Given the description of an element on the screen output the (x, y) to click on. 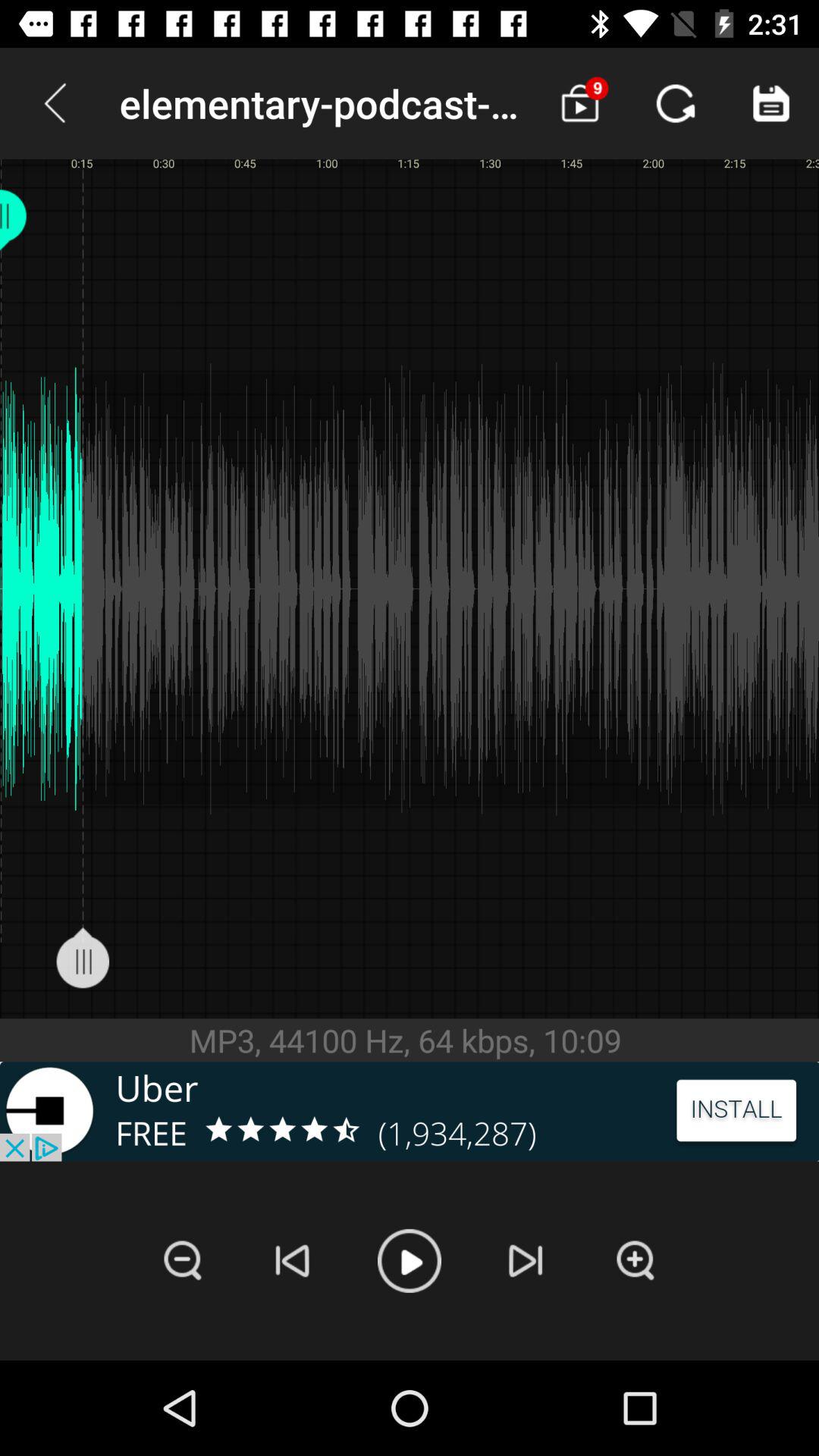
minimize zoom (183, 1260)
